Given the description of an element on the screen output the (x, y) to click on. 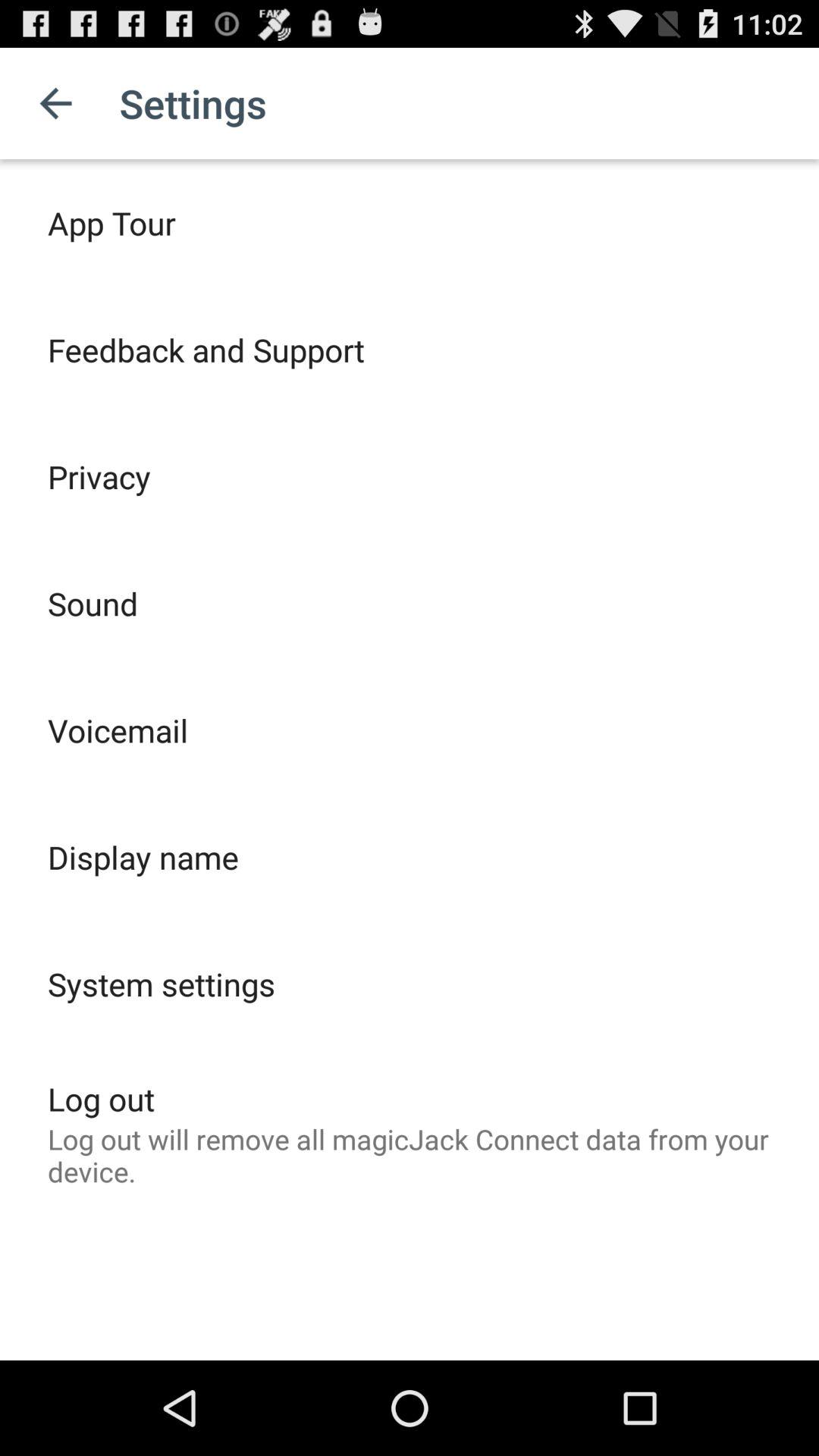
launch the privacy item (98, 476)
